Given the description of an element on the screen output the (x, y) to click on. 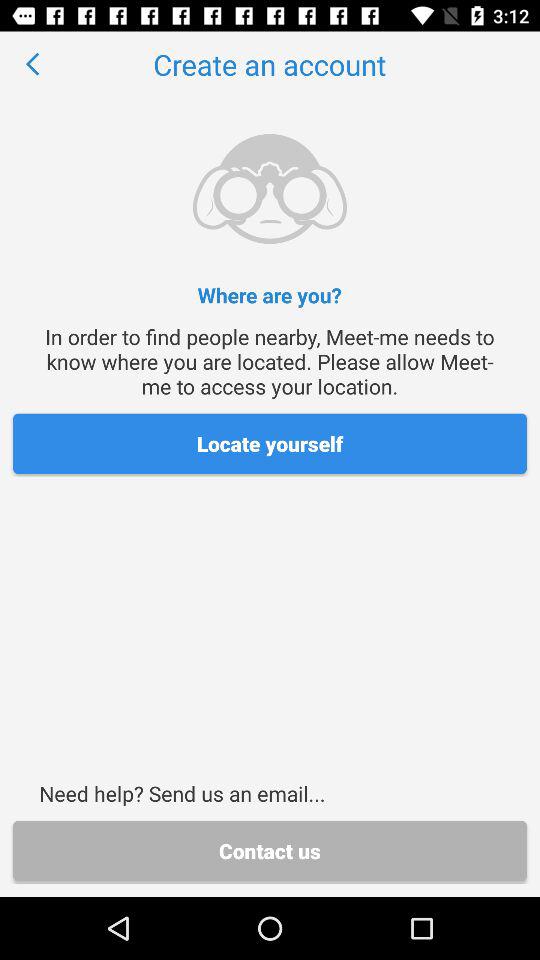
press the item above the need help send item (269, 443)
